Given the description of an element on the screen output the (x, y) to click on. 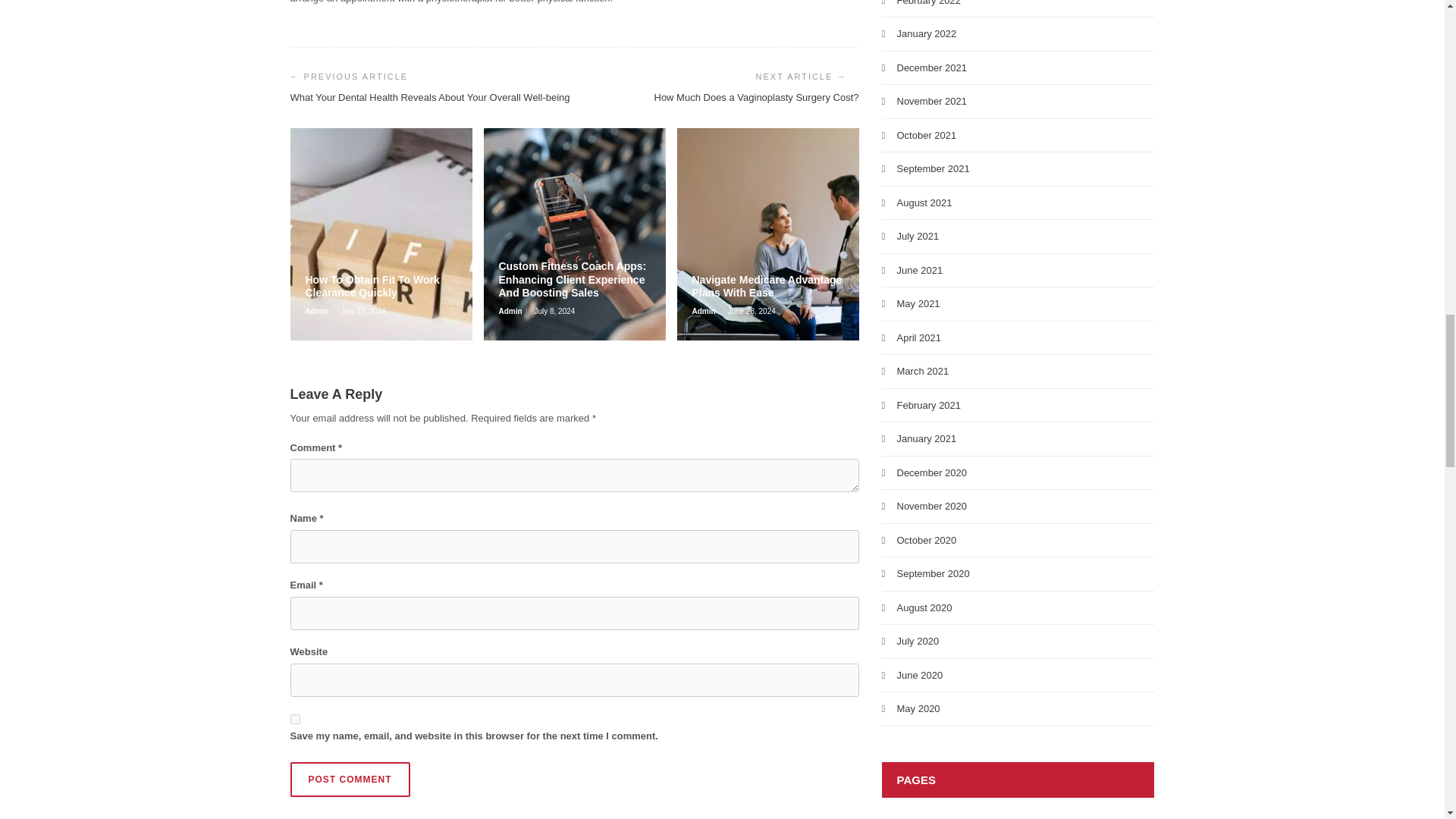
Admin (704, 311)
Admin (511, 311)
yes (294, 718)
Post Comment (349, 779)
Post Comment (349, 779)
Navigate Medicare Advantage Plans With Ease (767, 286)
How To Obtain Fit To Work Clearance Quickly (380, 286)
Admin (317, 311)
How Much Does a Vaginoplasty Surgery Cost? (756, 97)
